Given the description of an element on the screen output the (x, y) to click on. 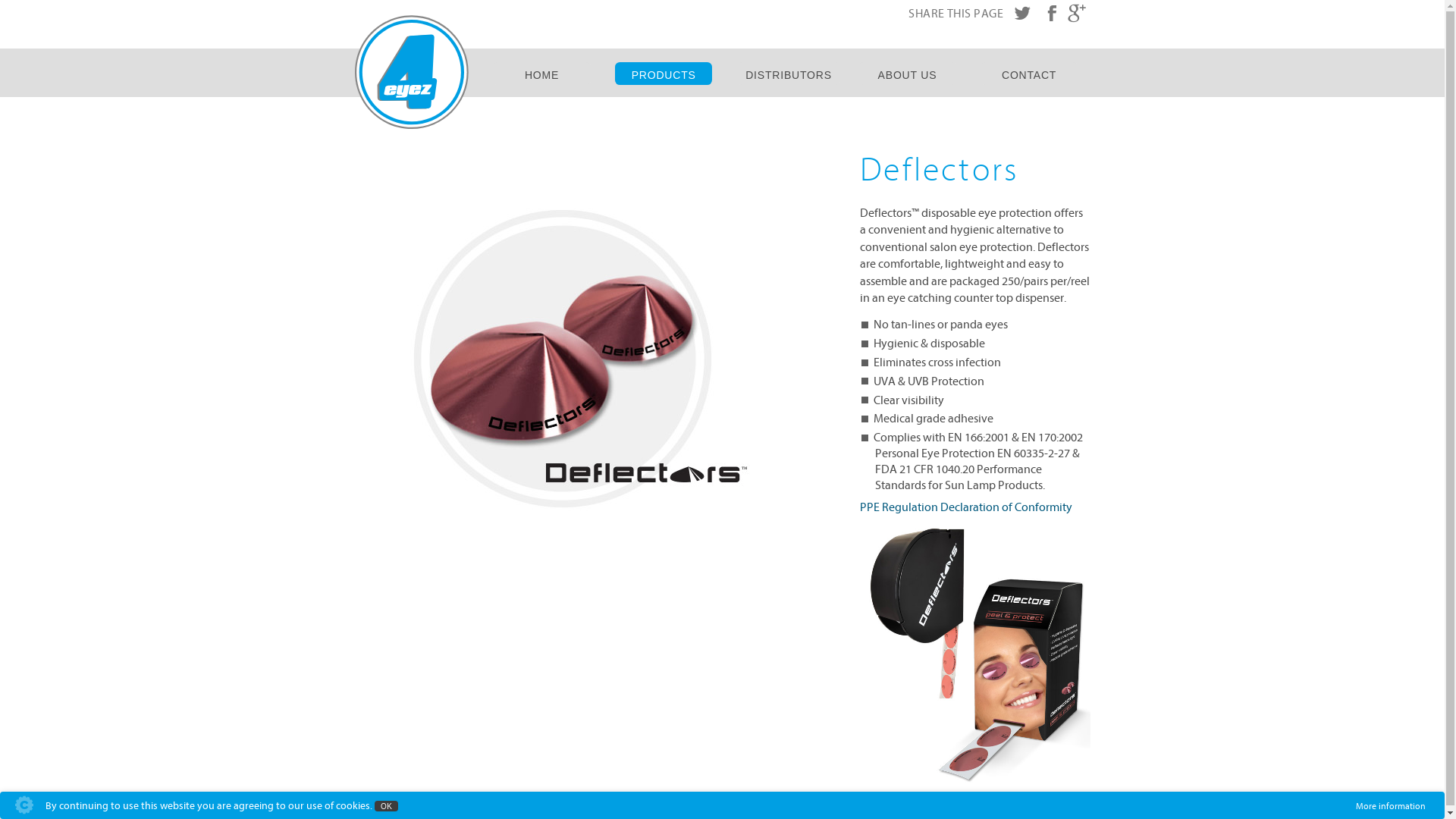
OK Element type: text (386, 805)
Cookies on this website Element type: hover (18, 808)
Share this page on Facebook Element type: hover (1049, 13)
Share this page on Twitter Element type: hover (1021, 13)
Privacy Element type: text (44, 808)
DISTRIBUTORS Element type: text (788, 73)
CONTACT Element type: text (1029, 73)
PRODUCTS Element type: text (663, 73)
ABOUT US Element type: text (907, 73)
PPE Regulation Declaration of Conformity Element type: text (965, 507)
Share this page on Google Plus Element type: hover (1076, 13)
HOME Element type: text (541, 73)
More information Element type: text (1390, 805)
